Given the description of an element on the screen output the (x, y) to click on. 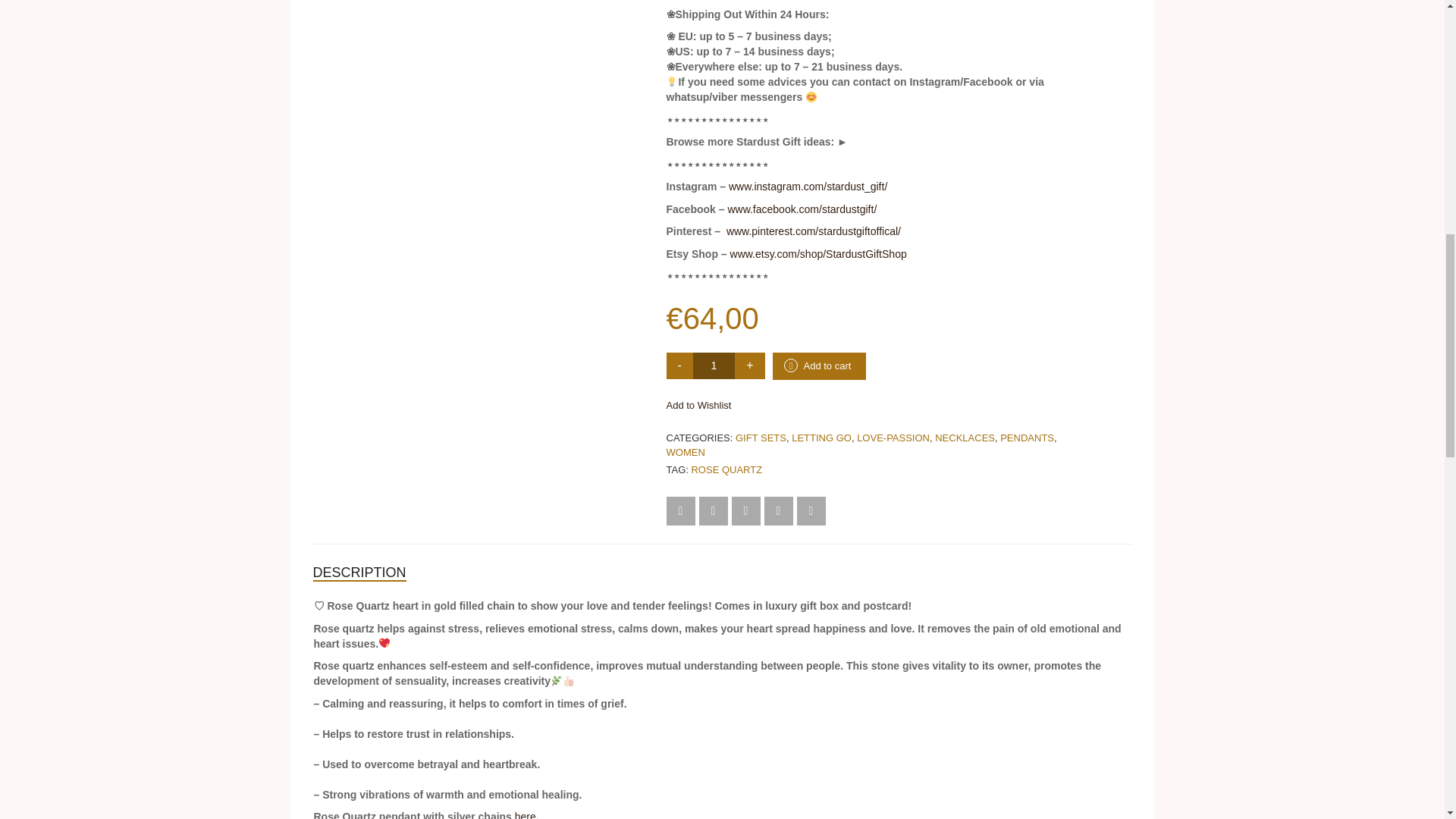
1 (714, 365)
- (679, 365)
